Given the description of an element on the screen output the (x, y) to click on. 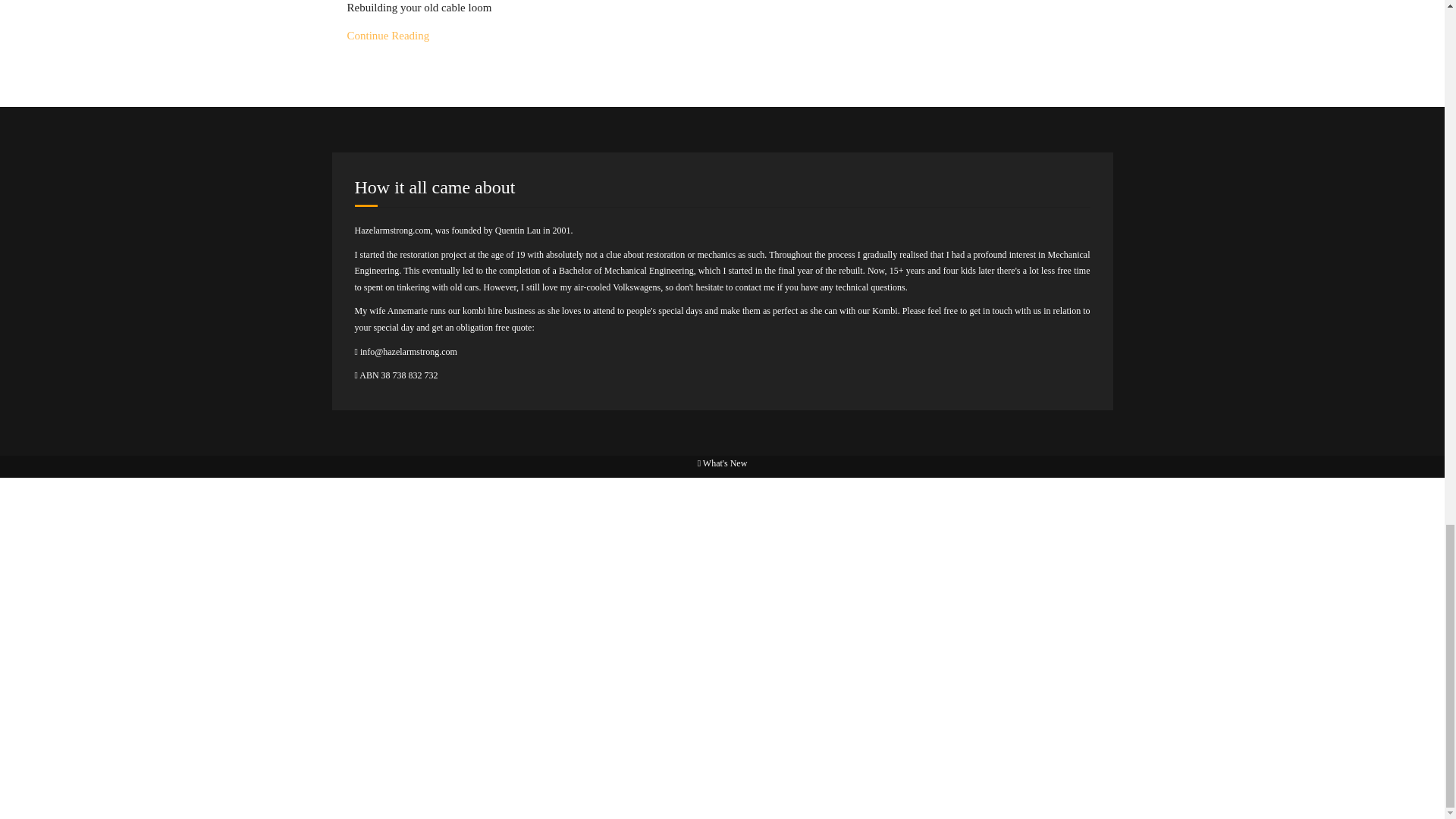
Contact Quentin (407, 351)
Cable Loom (388, 35)
